Given the description of an element on the screen output the (x, y) to click on. 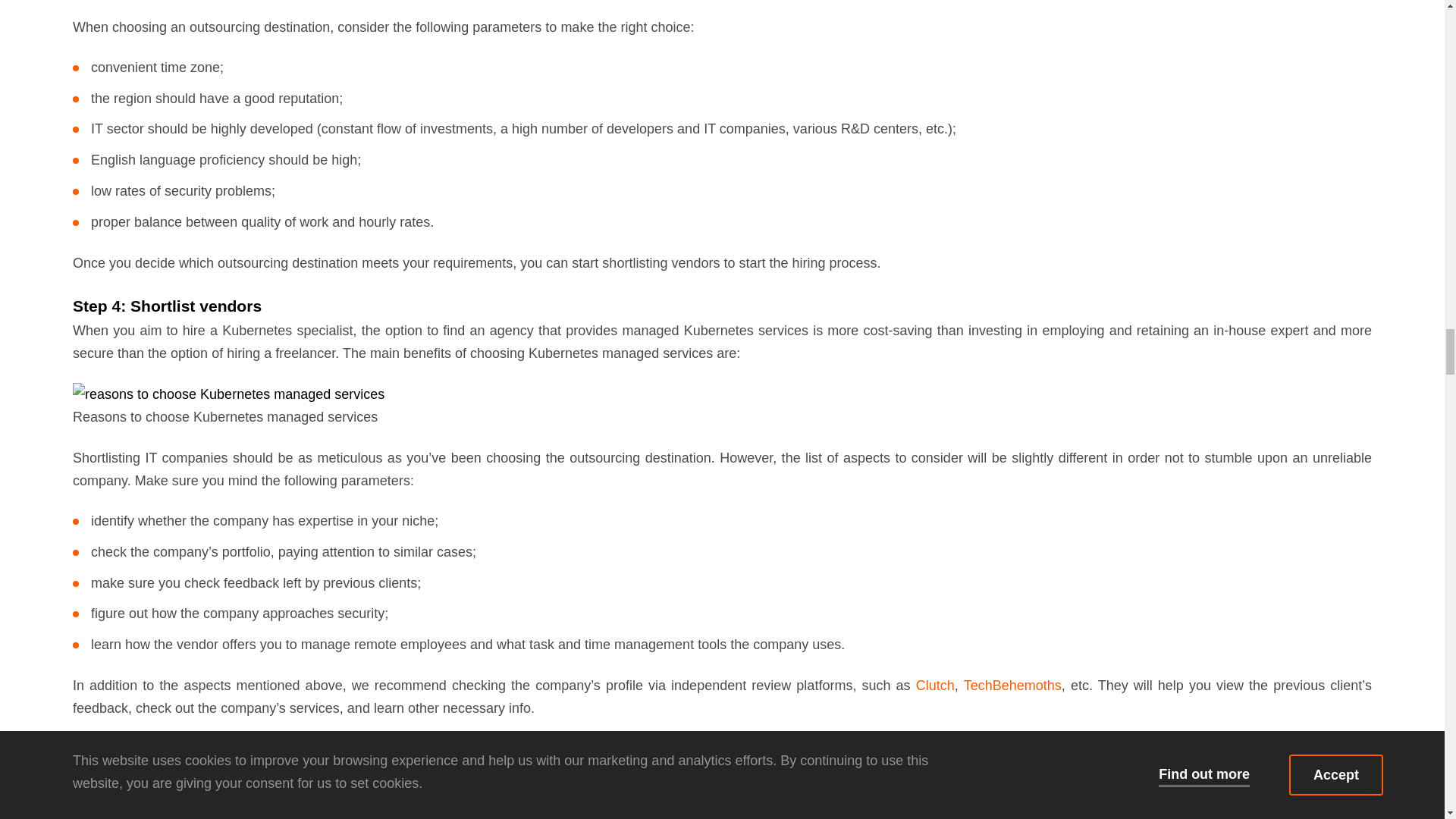
Reasons to choose Kubernetes managed services (228, 394)
